Given the description of an element on the screen output the (x, y) to click on. 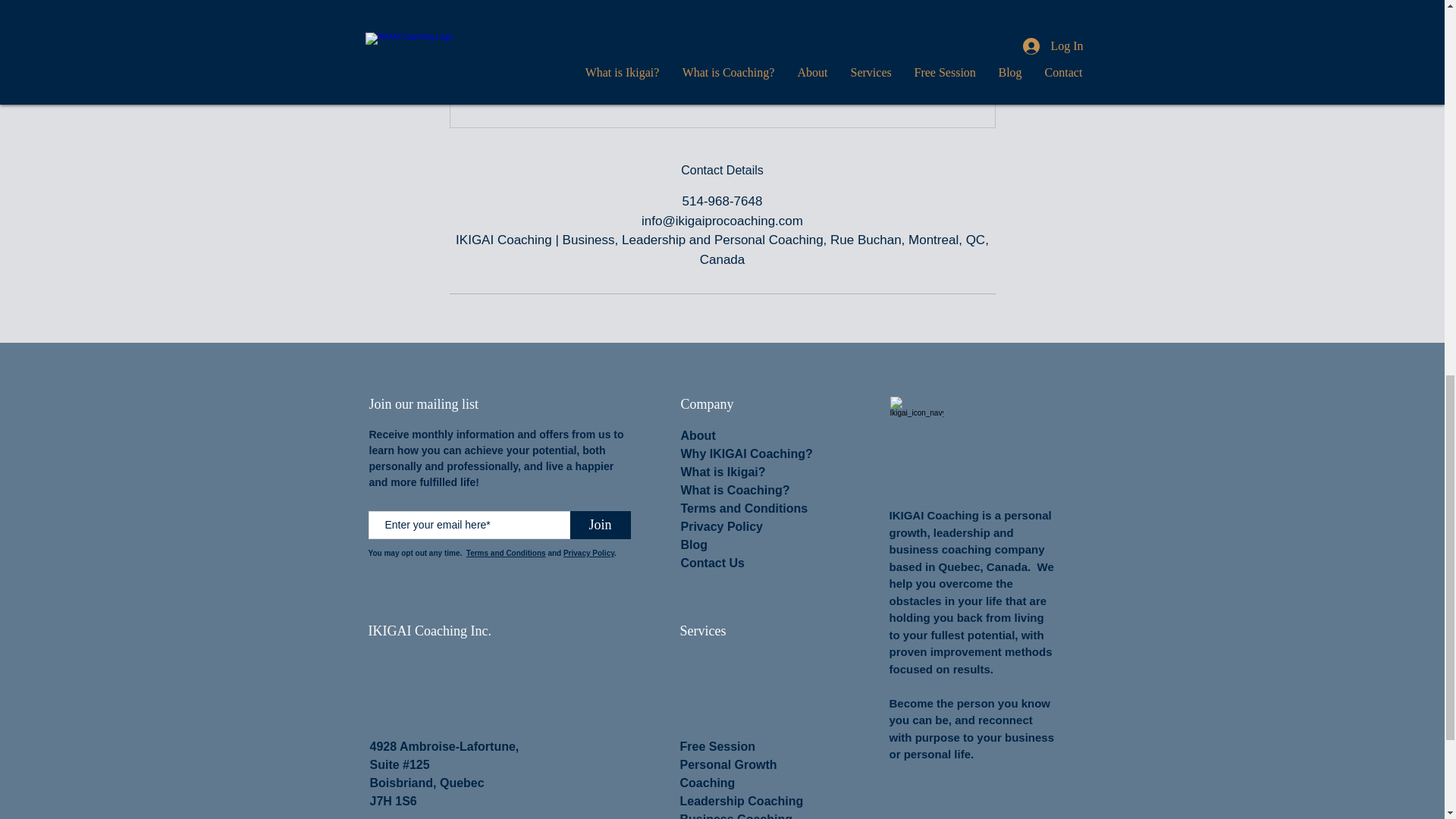
Privacy Policy (588, 552)
Blog (694, 544)
Leadership Coaching (741, 800)
Personal Growth Coaching (727, 773)
Contact Us (712, 562)
Terms and Conditions (744, 508)
About (698, 435)
Privacy Policy (721, 526)
Free Session (717, 746)
Why IKIGAI Coaching? (746, 453)
